Given the description of an element on the screen output the (x, y) to click on. 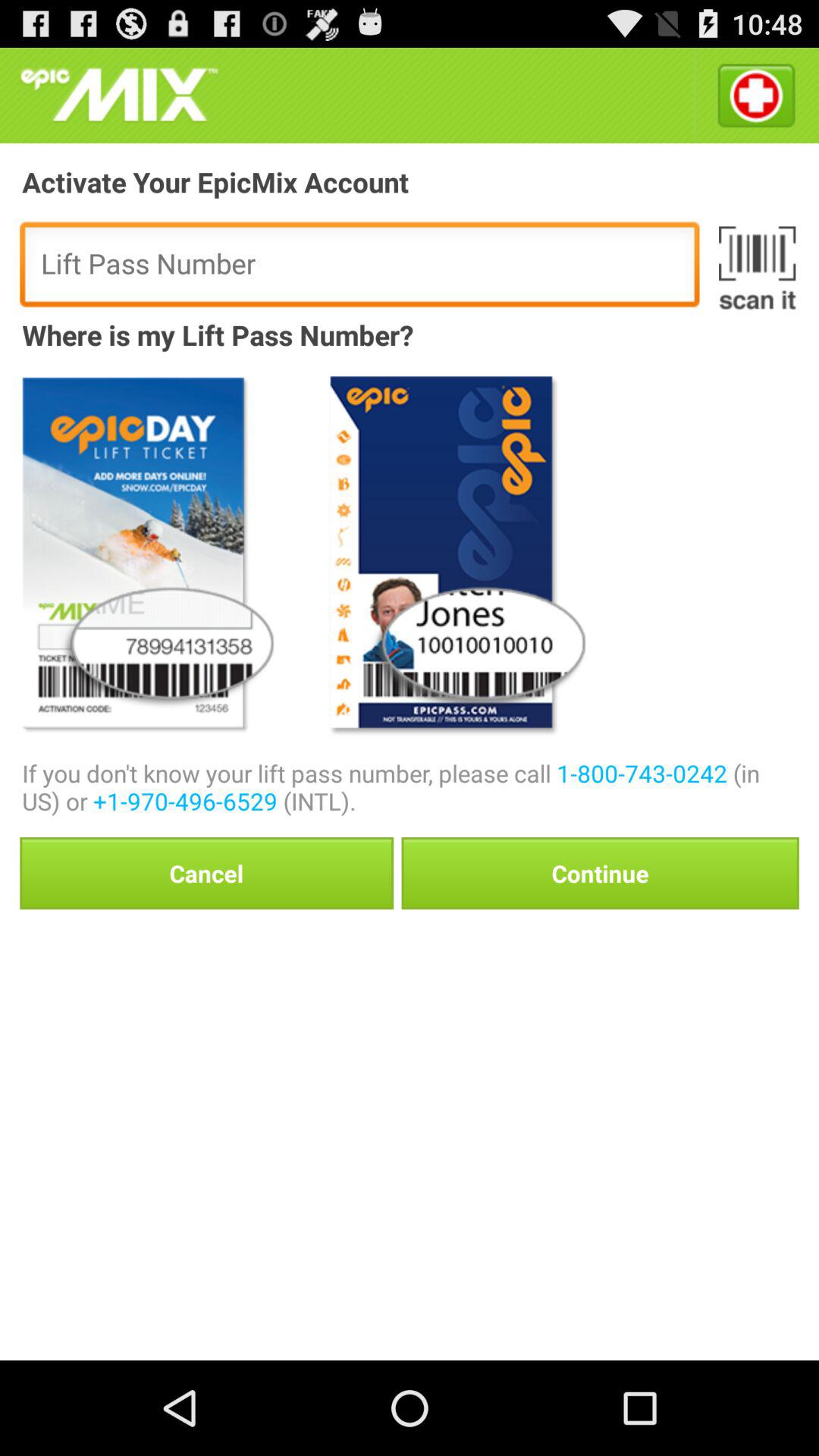
select the item below activate your epicmix icon (757, 267)
